Given the description of an element on the screen output the (x, y) to click on. 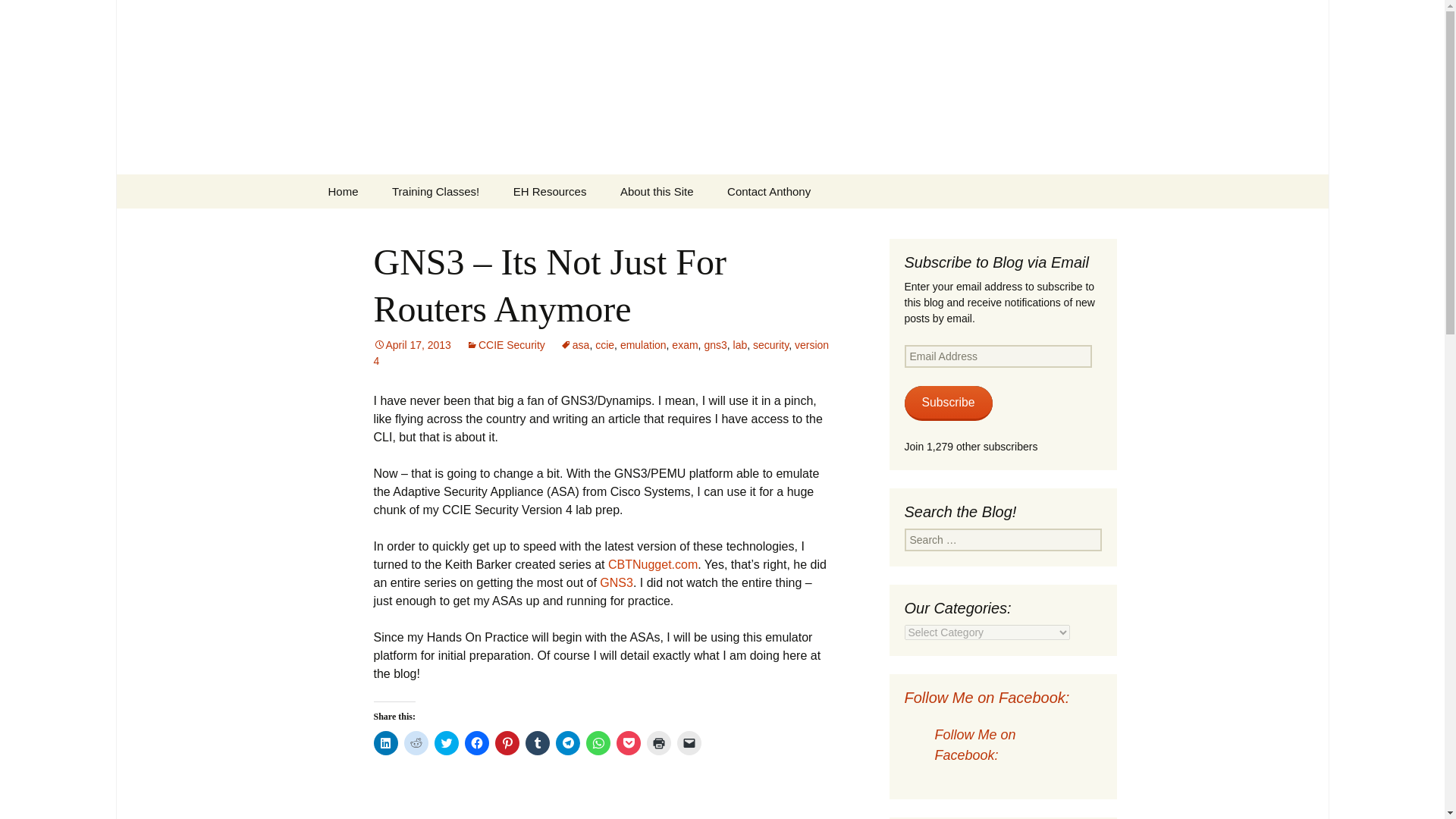
Click to share on LinkedIn (384, 743)
EH Resources (549, 191)
Click to email a link to a friend (688, 743)
Click to share on Reddit (415, 743)
asa (574, 345)
version 4 (600, 352)
exam (684, 345)
security (770, 345)
CBTNugget.com (652, 563)
Click to share on Facebook (475, 743)
gns3 (714, 345)
Home (342, 191)
Click to share on Pinterest (506, 743)
Training Classes! (436, 191)
